Given the description of an element on the screen output the (x, y) to click on. 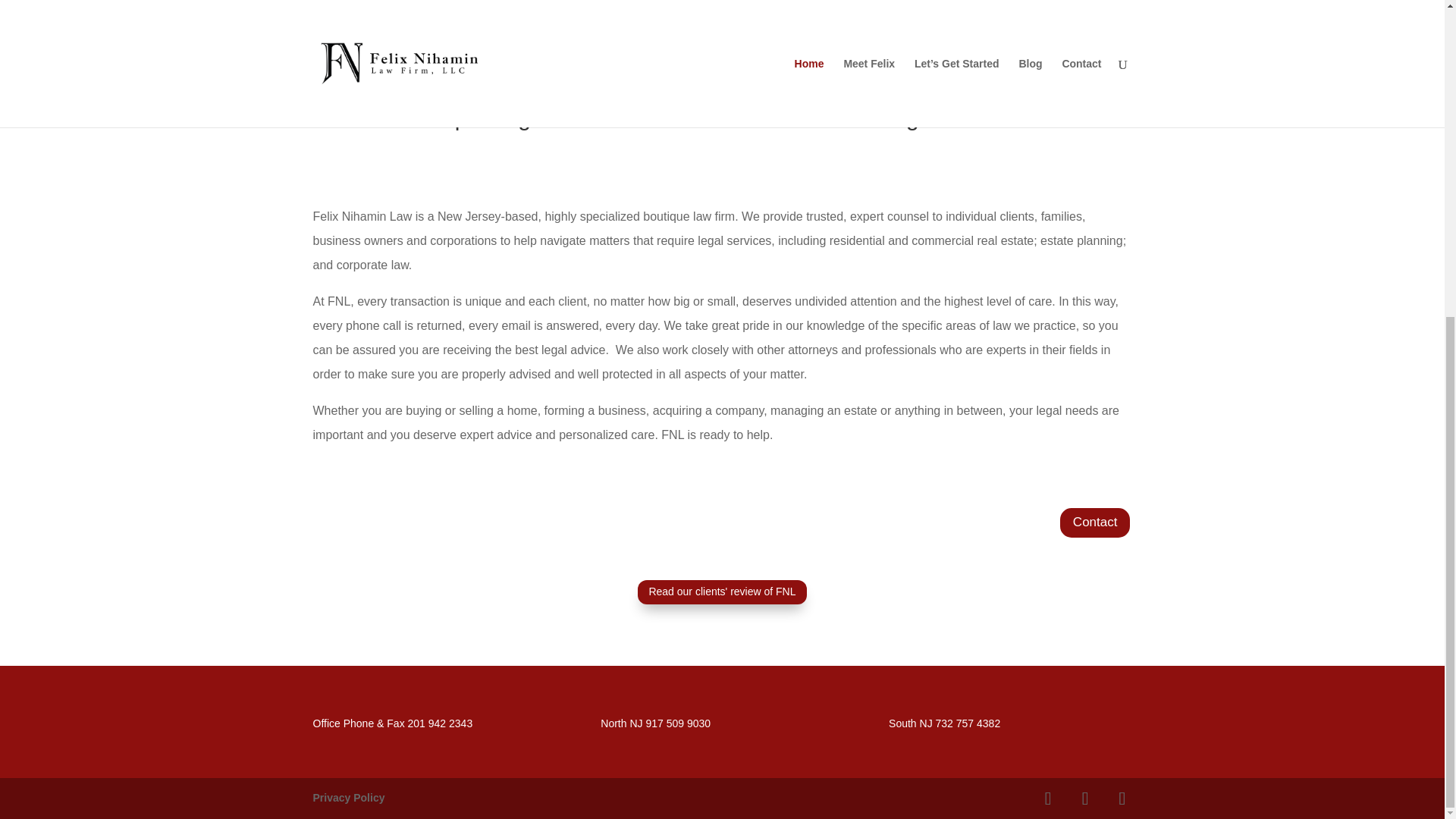
Read our clients' review of FNL (721, 591)
Privacy Policy (348, 797)
Contact (1095, 522)
